Given the description of an element on the screen output the (x, y) to click on. 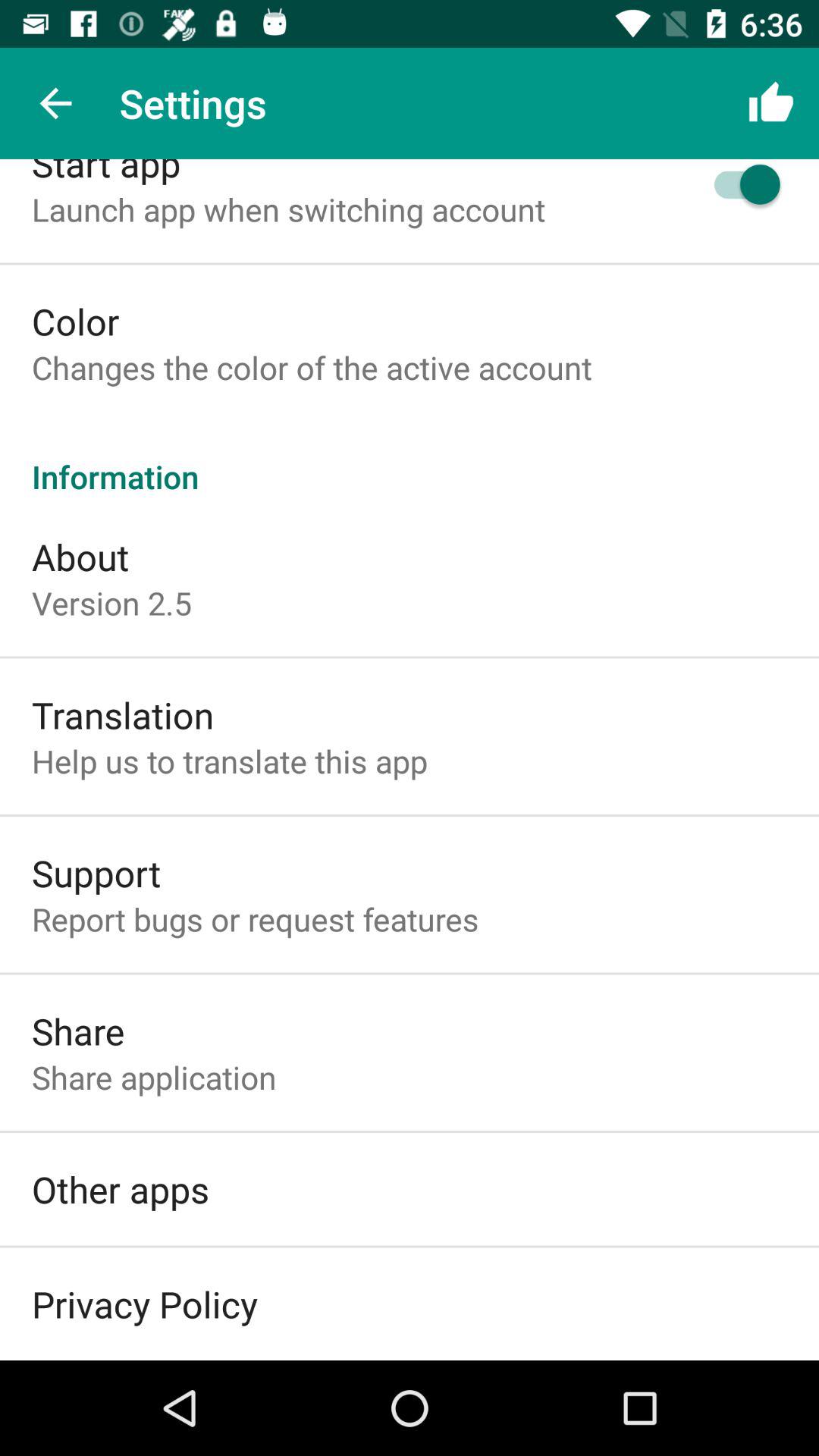
choose help us to icon (229, 760)
